Given the description of an element on the screen output the (x, y) to click on. 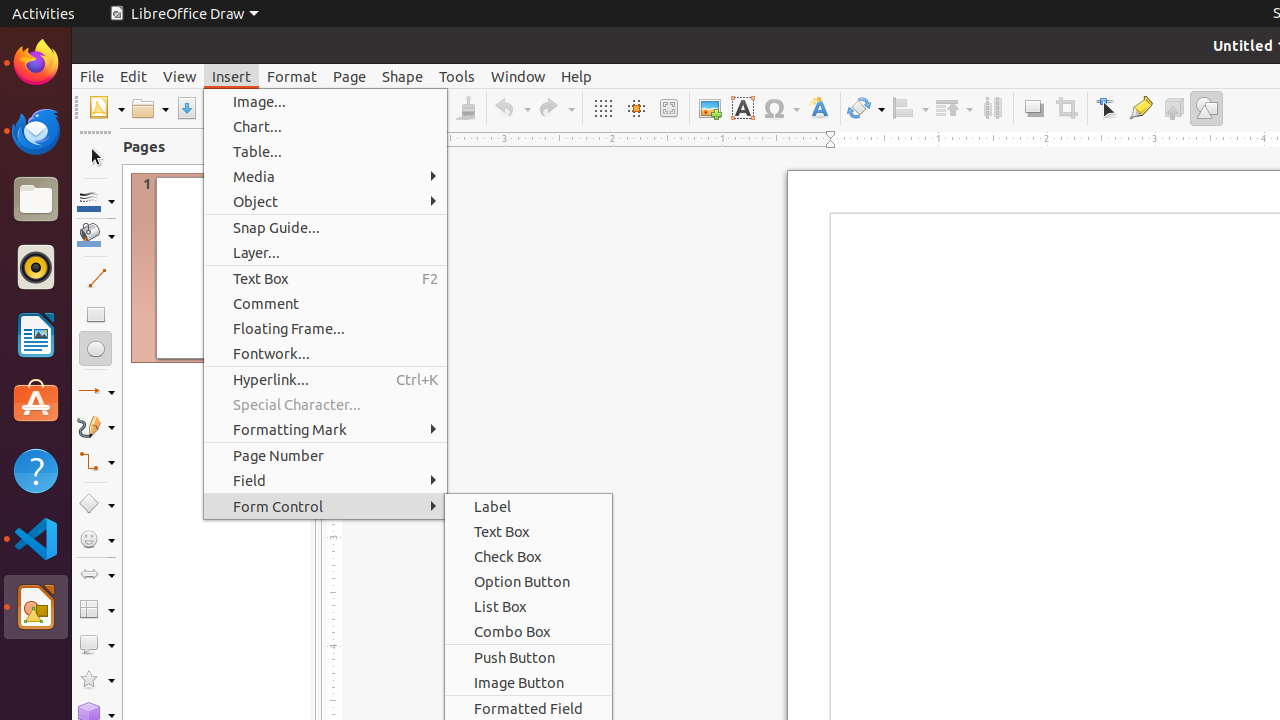
File Element type: menu (92, 76)
LibreOffice Draw Element type: push-button (36, 607)
Page Element type: menu (349, 76)
Floating Frame... Element type: menu-item (325, 328)
Push Button Element type: check-menu-item (528, 657)
